Given the description of an element on the screen output the (x, y) to click on. 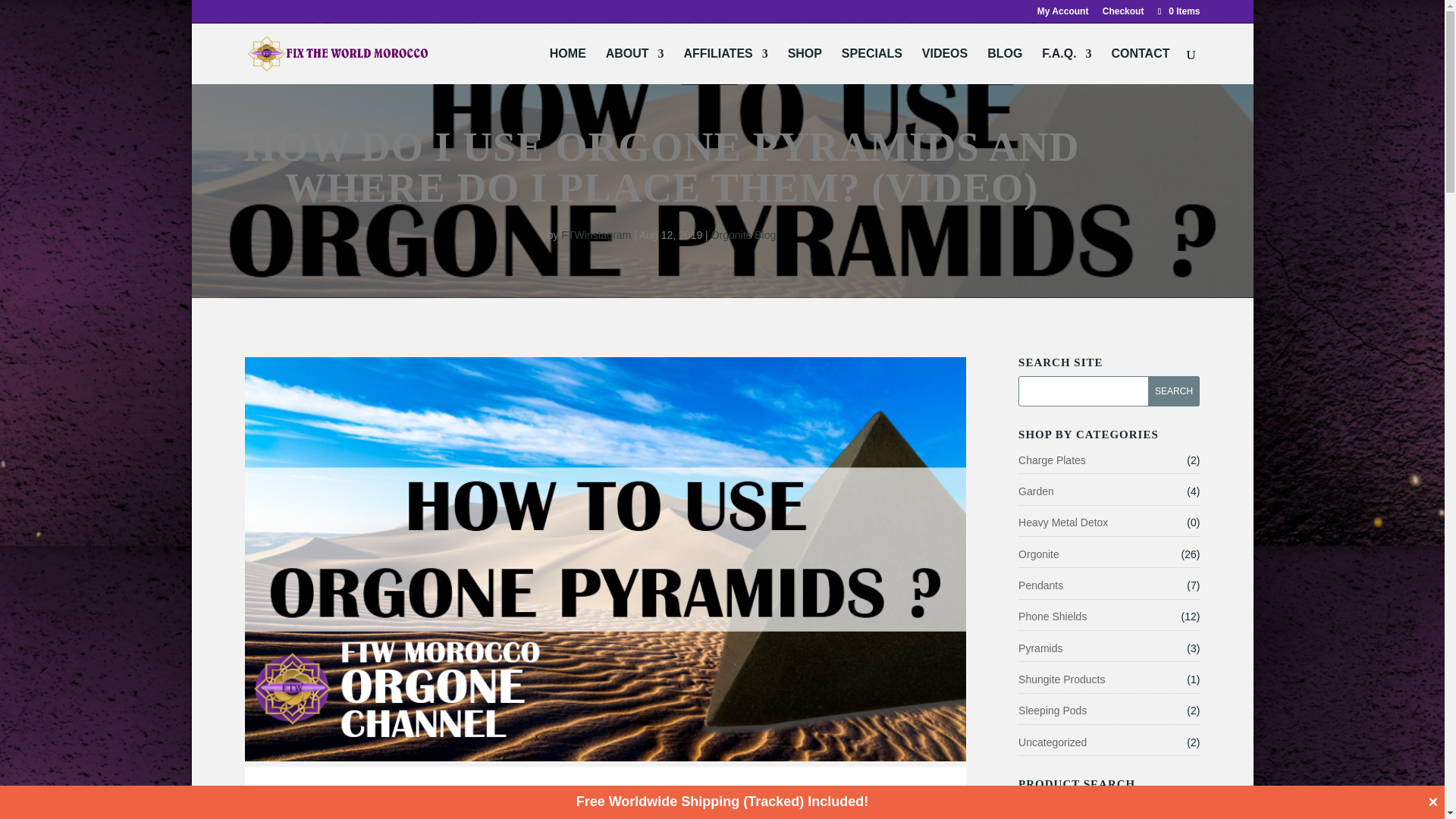
BLOG (1004, 66)
AFFILIATES (724, 66)
Posts by FTWinstagram (595, 234)
VIDEOS (944, 66)
My Account (1062, 14)
HOME (568, 66)
Search (1173, 390)
F.A.Q. (1066, 66)
0 Items (1176, 10)
ABOUT (634, 66)
SHOP (804, 66)
CONTACT (1139, 66)
Checkout (1123, 14)
SPECIALS (871, 66)
